Given the description of an element on the screen output the (x, y) to click on. 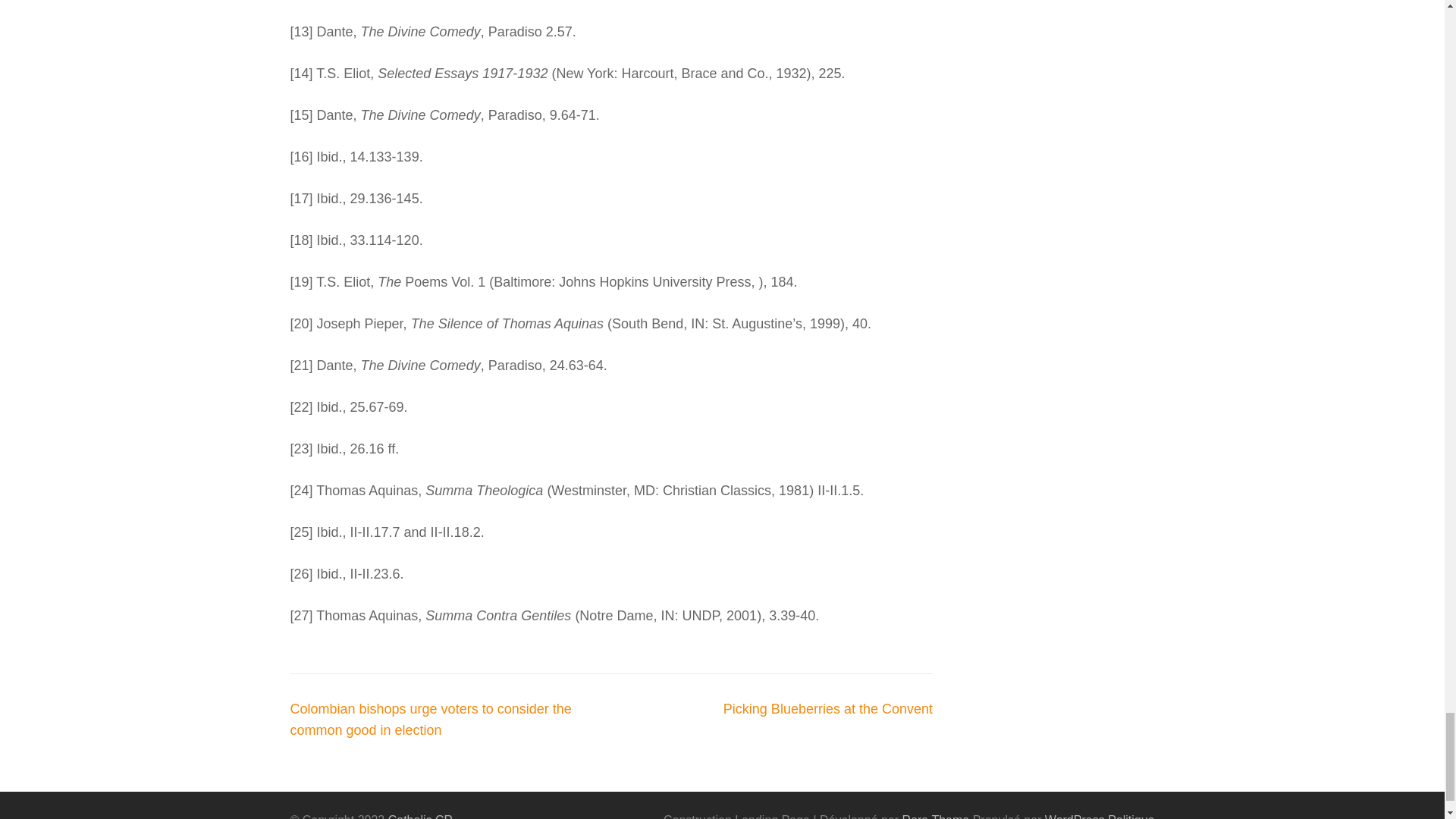
Picking Blueberries at the Convent (828, 708)
